Given the description of an element on the screen output the (x, y) to click on. 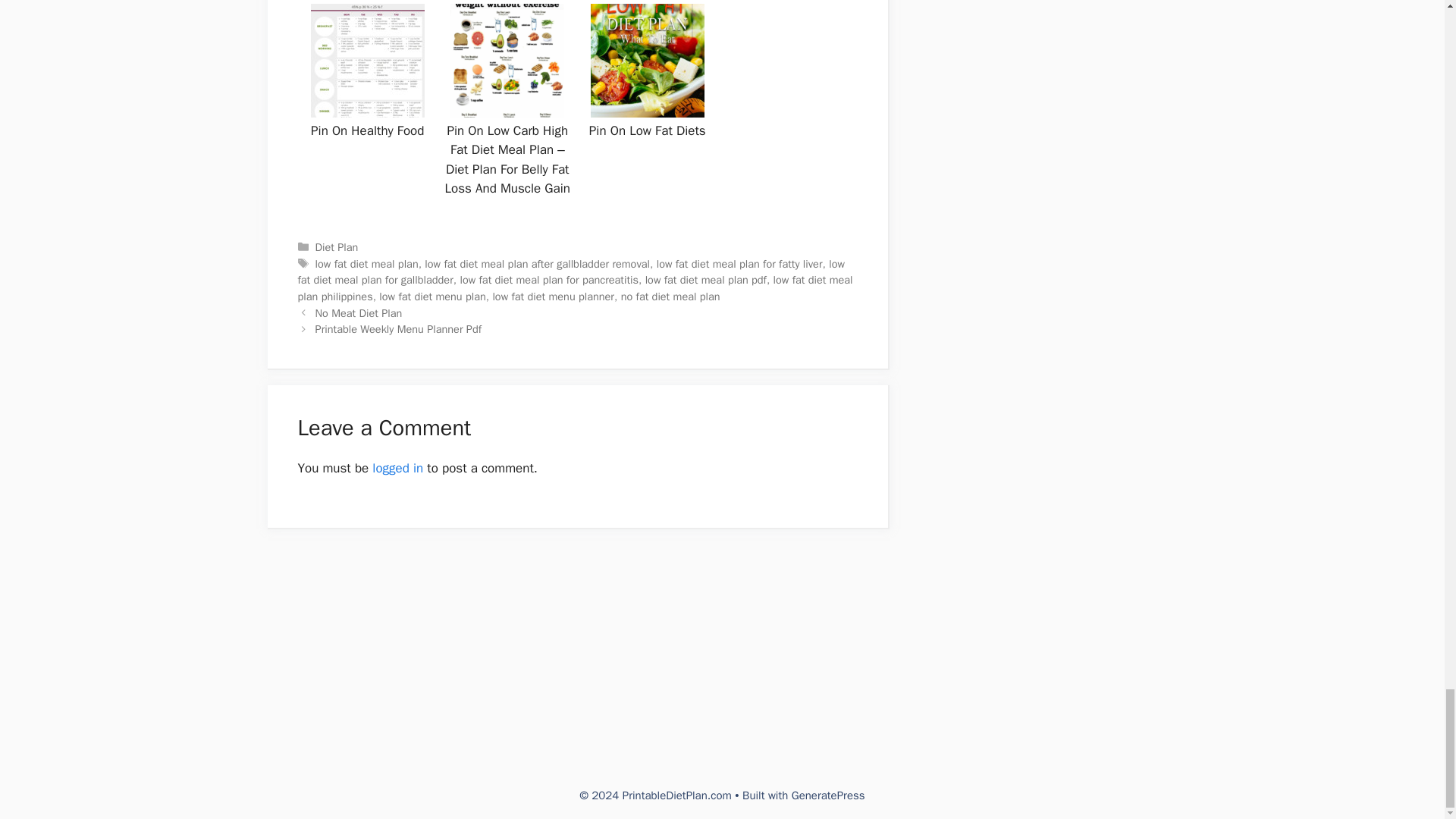
low fat diet meal plan pdf (706, 279)
logged in (397, 467)
low fat diet meal plan for pancreatitis (549, 279)
low fat diet menu plan (431, 296)
low fat diet meal plan for fatty liver (739, 264)
Diet Plan (336, 246)
no fat diet meal plan (670, 296)
low fat diet meal plan for gallbladder (570, 272)
No Meat Diet Plan (359, 313)
low fat diet meal plan after gallbladder removal (537, 264)
